Given the description of an element on the screen output the (x, y) to click on. 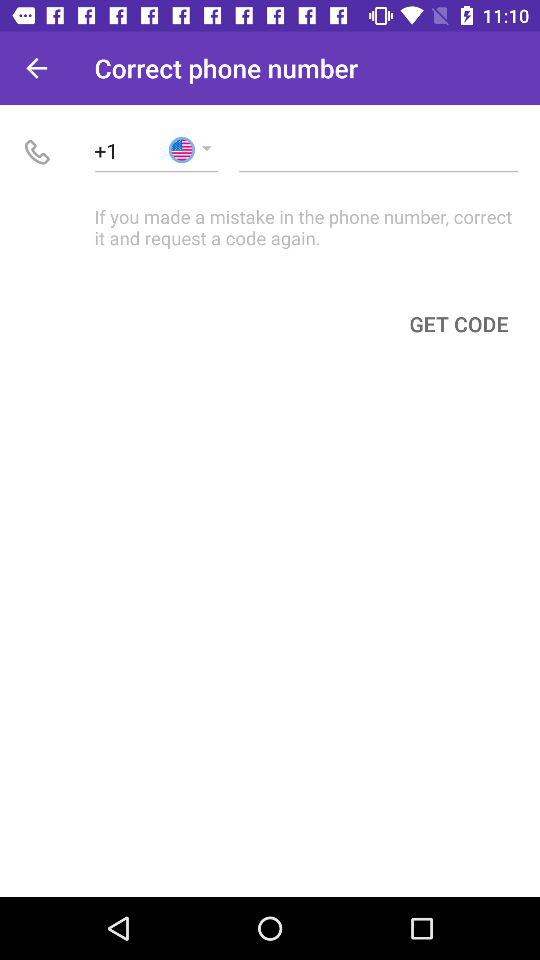
input corrected phone number (378, 150)
